Given the description of an element on the screen output the (x, y) to click on. 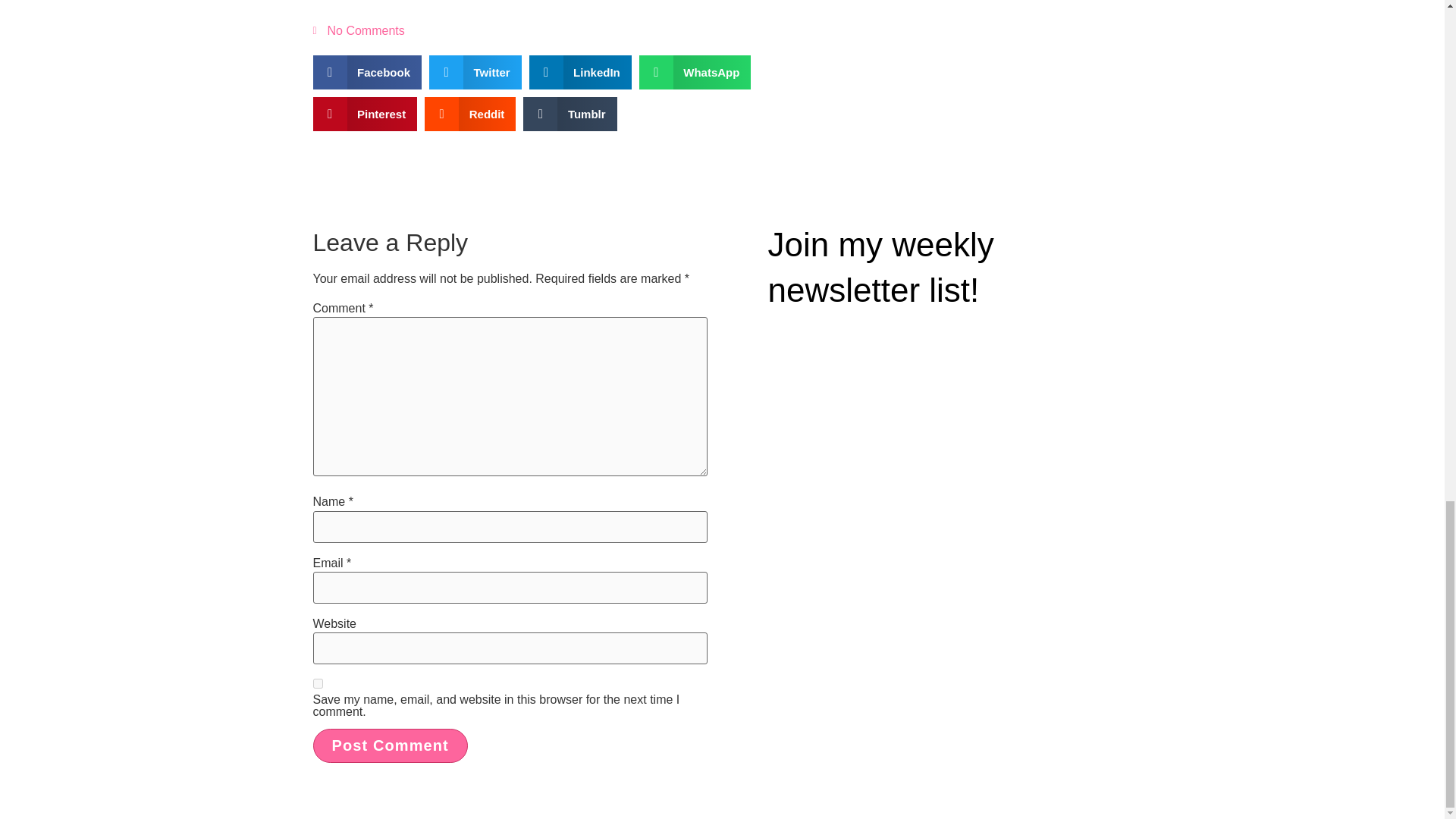
yes (317, 683)
Post Comment (390, 745)
Post Comment (390, 745)
No Comments (358, 31)
